Given the description of an element on the screen output the (x, y) to click on. 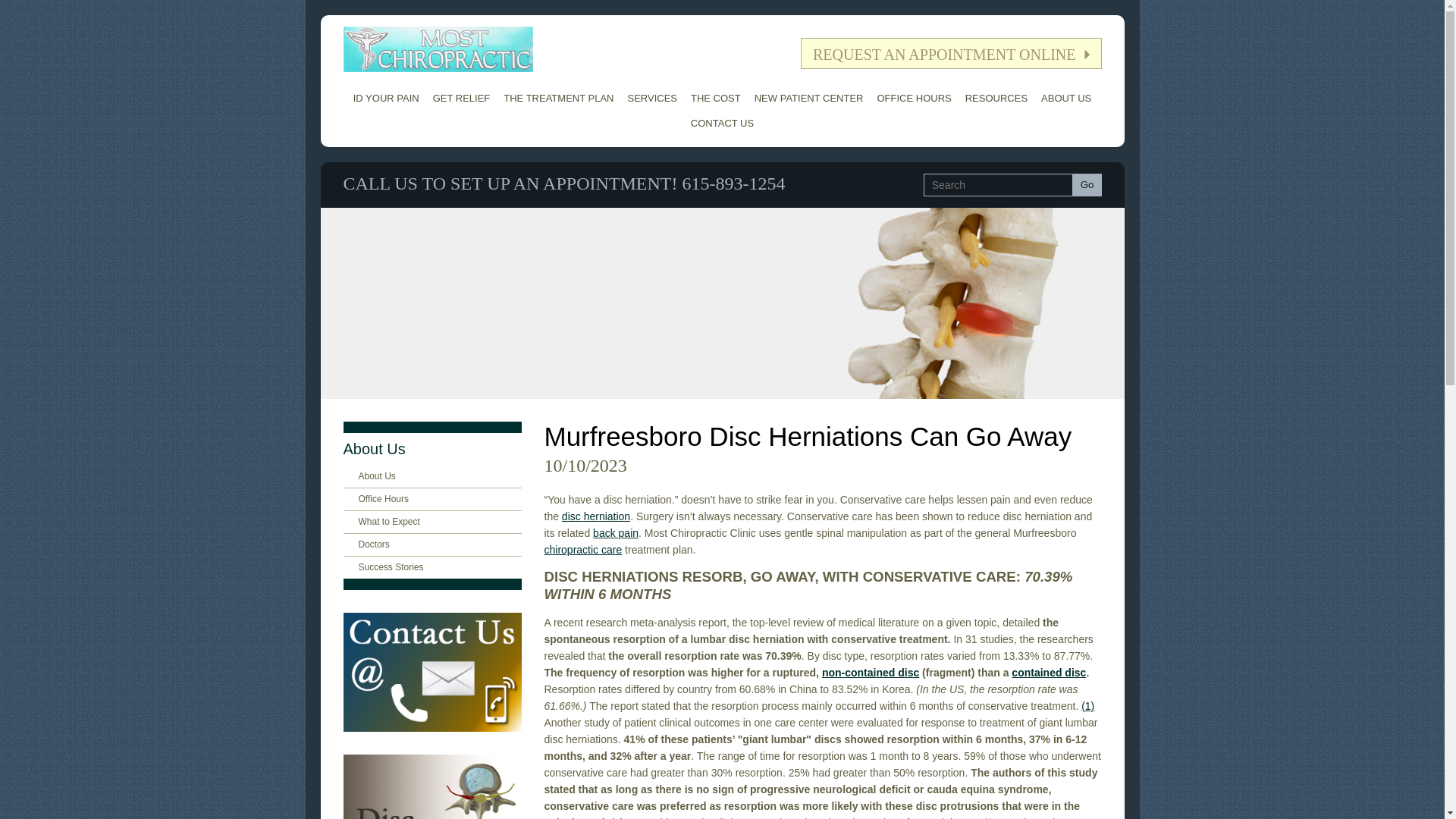
ID YOUR PAIN (386, 97)
THE COST (716, 97)
contact-us-colors.jpg (431, 672)
NEW PATIENT CENTER (809, 97)
GET RELIEF (461, 97)
Go (1087, 184)
Most Chiropractic Clinic (437, 49)
REQUEST AN APPOINTMENT ONLINE (951, 52)
THE TREATMENT PLAN (558, 97)
disc-herniation-widget (431, 786)
